Given the description of an element on the screen output the (x, y) to click on. 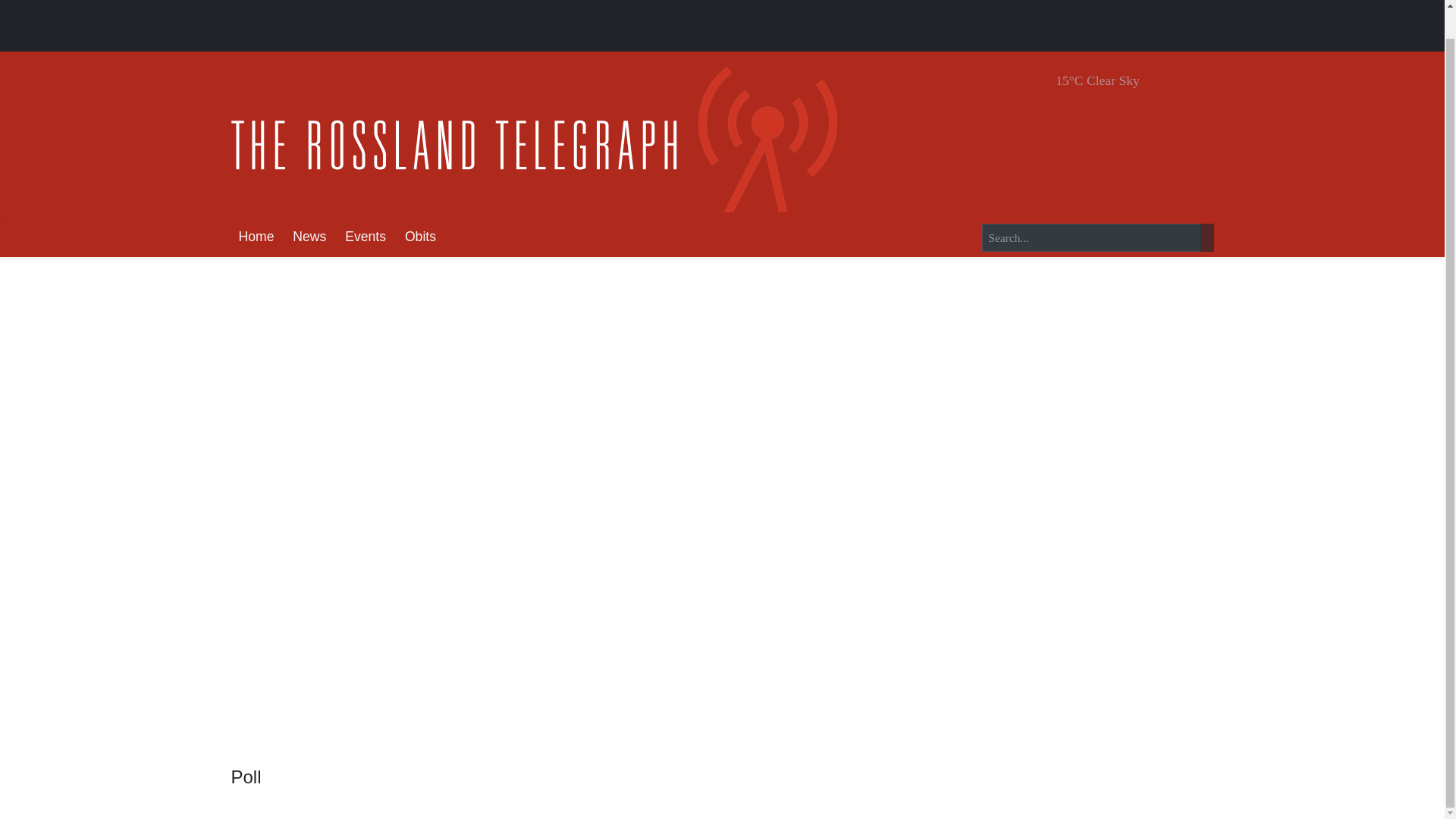
News (309, 237)
Home (255, 237)
Obits (420, 237)
Events (365, 237)
